Given the description of an element on the screen output the (x, y) to click on. 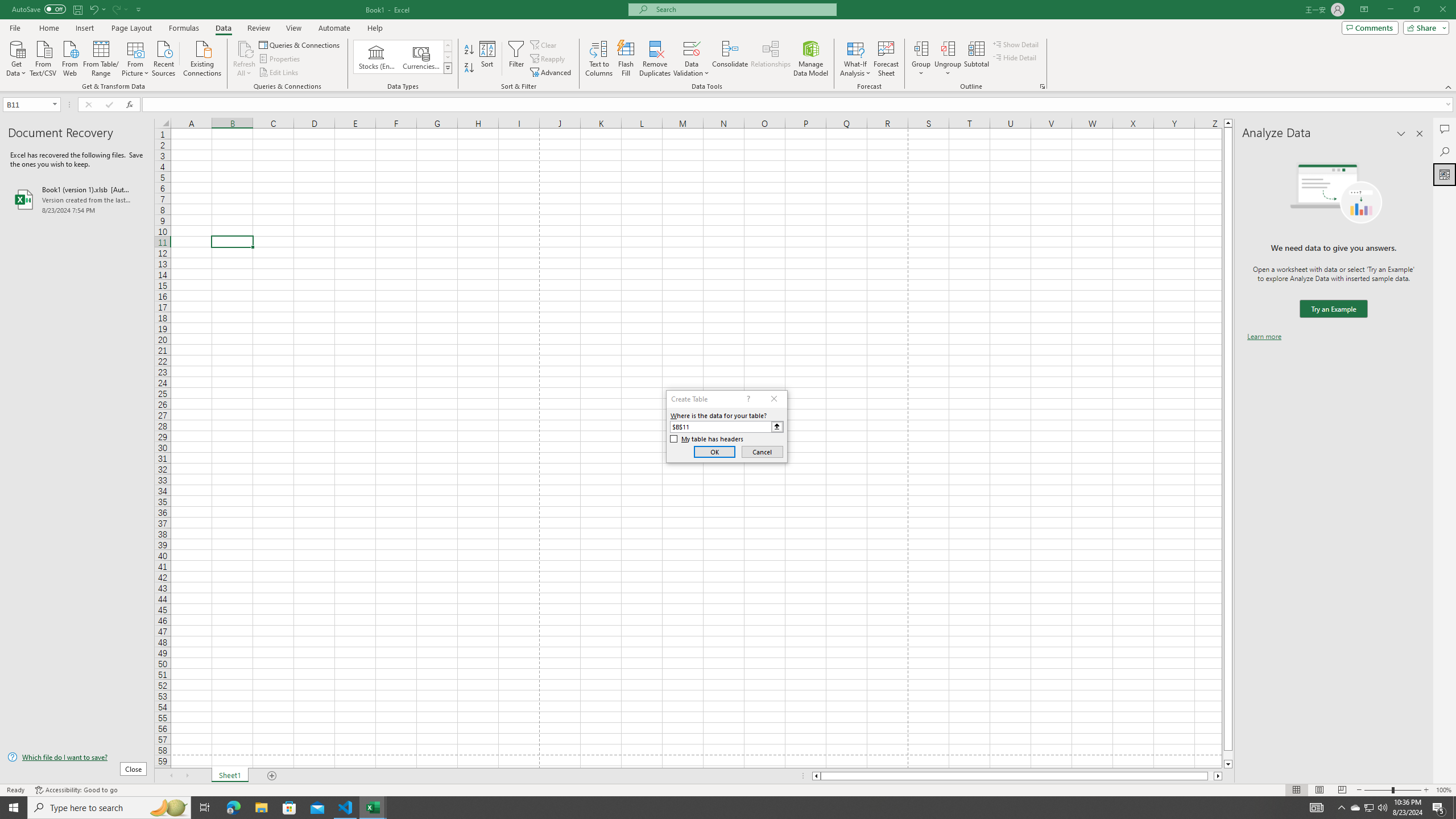
Stocks (English) (375, 56)
Manage Data Model (810, 58)
Properties (280, 58)
Clear (544, 44)
Row Down (448, 56)
Flash Fill (625, 58)
